Given the description of an element on the screen output the (x, y) to click on. 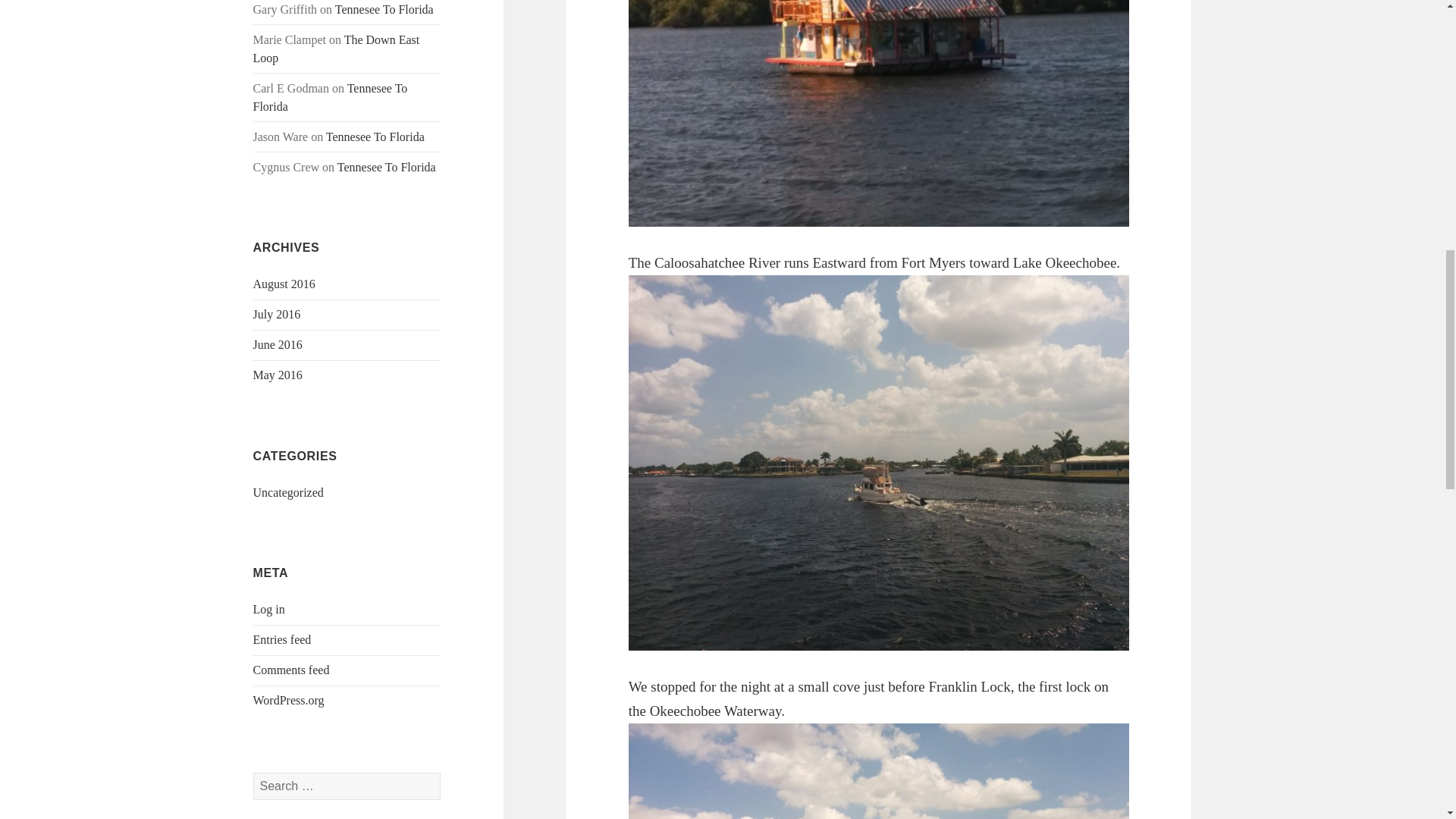
June 2016 (277, 344)
Entries feed (282, 639)
Tennesee To Florida (386, 166)
August 2016 (284, 283)
May 2016 (277, 374)
Tennesee To Florida (330, 97)
WordPress.org (288, 699)
The Down East Loop (336, 48)
July 2016 (277, 314)
Tennesee To Florida (375, 136)
Uncategorized (288, 492)
Log in (269, 608)
Tennesee To Florida (383, 9)
